Given the description of an element on the screen output the (x, y) to click on. 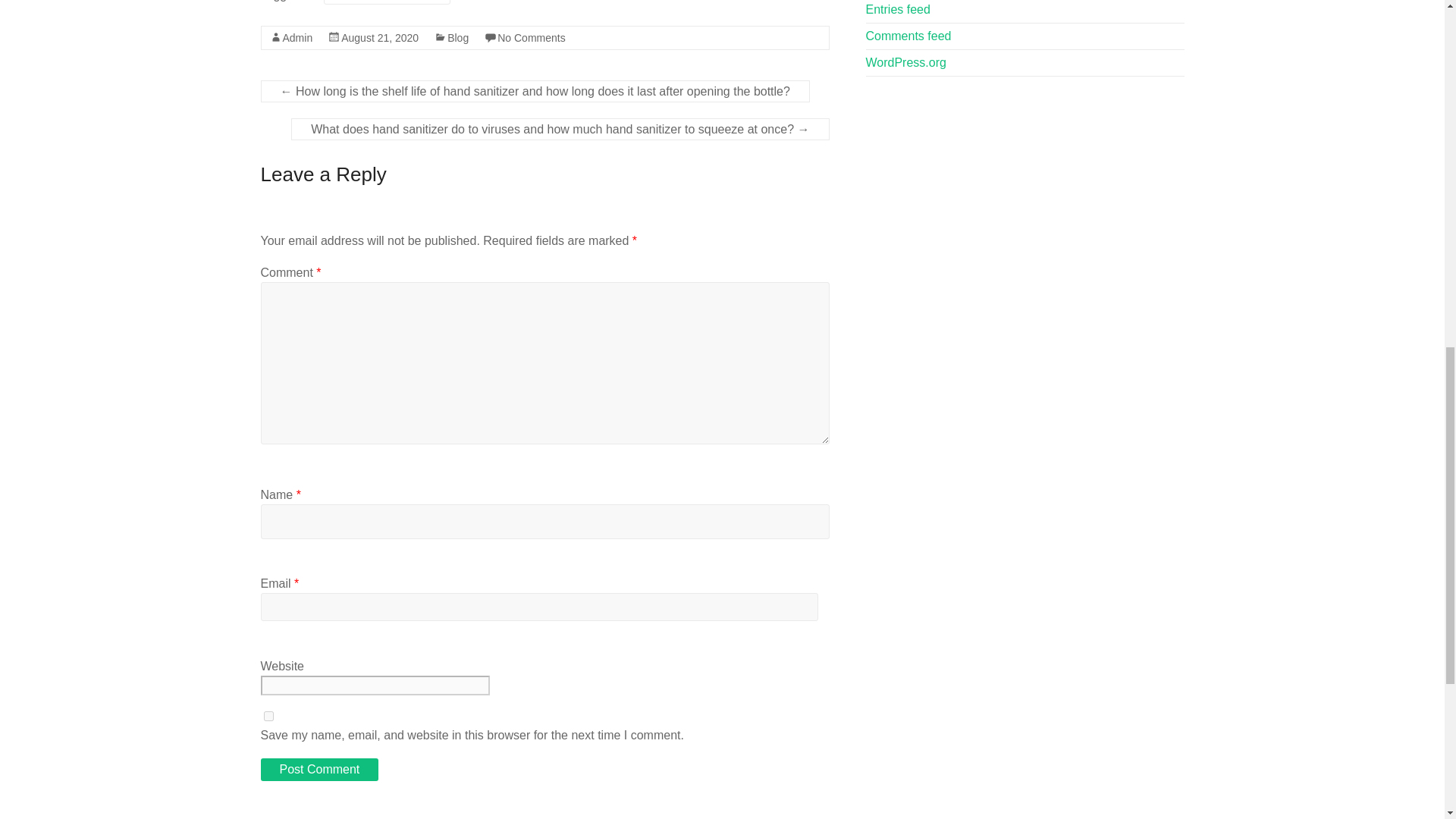
alcohol hand sanitizer (386, 2)
Post Comment (319, 769)
Blog (457, 37)
2:38 am (379, 37)
Post Comment (319, 769)
yes (268, 716)
August 21, 2020 (379, 37)
No Comments (530, 37)
Admin (297, 37)
